Given the description of an element on the screen output the (x, y) to click on. 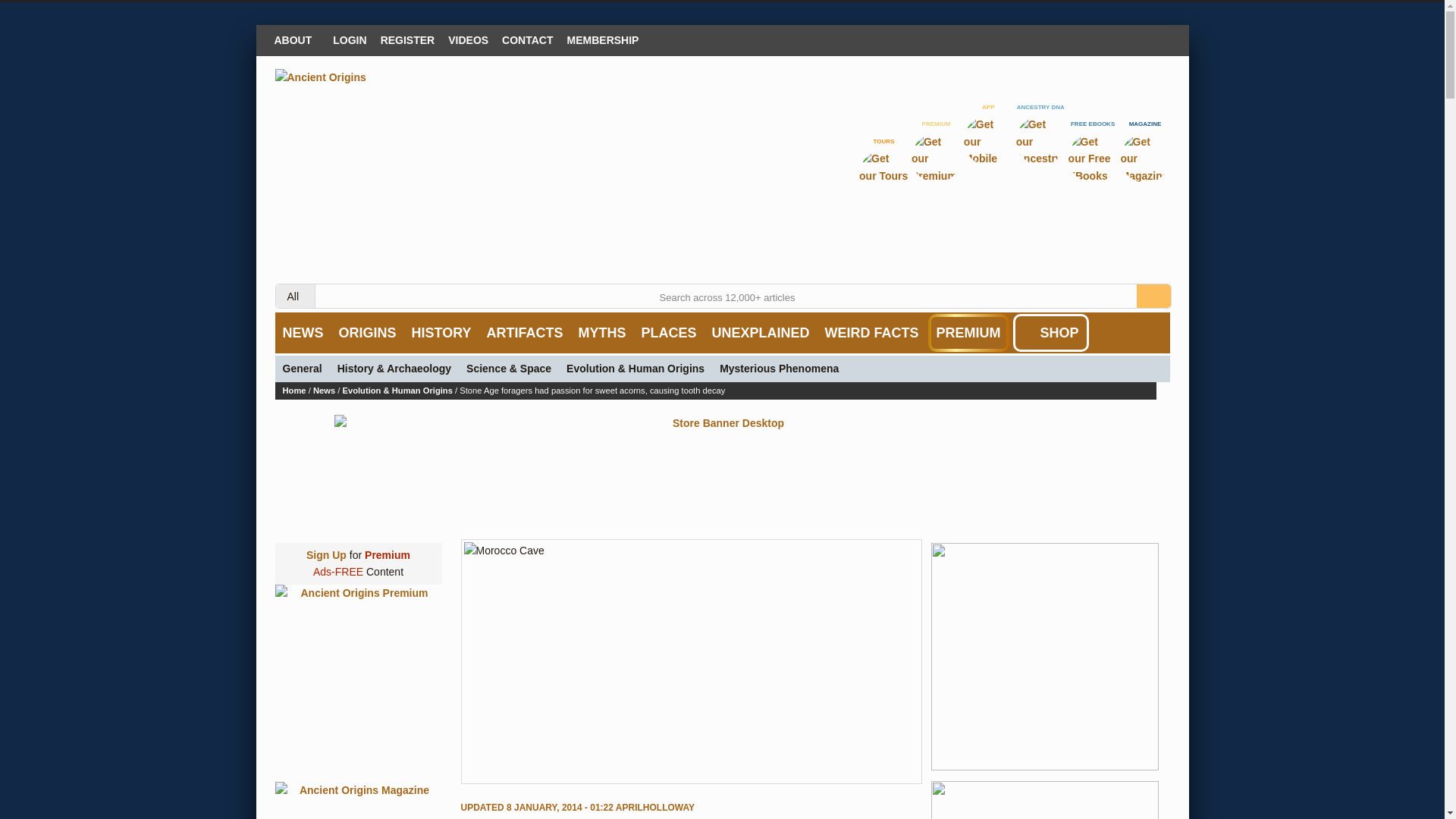
Contact us (526, 40)
CONTACT (526, 40)
ABOUT (296, 40)
Find (1152, 295)
VIDEOS (468, 40)
Login (349, 40)
Video Gallery (468, 40)
Our Mission (296, 40)
LOGIN (349, 40)
REGISTER (408, 40)
